Given the description of an element on the screen output the (x, y) to click on. 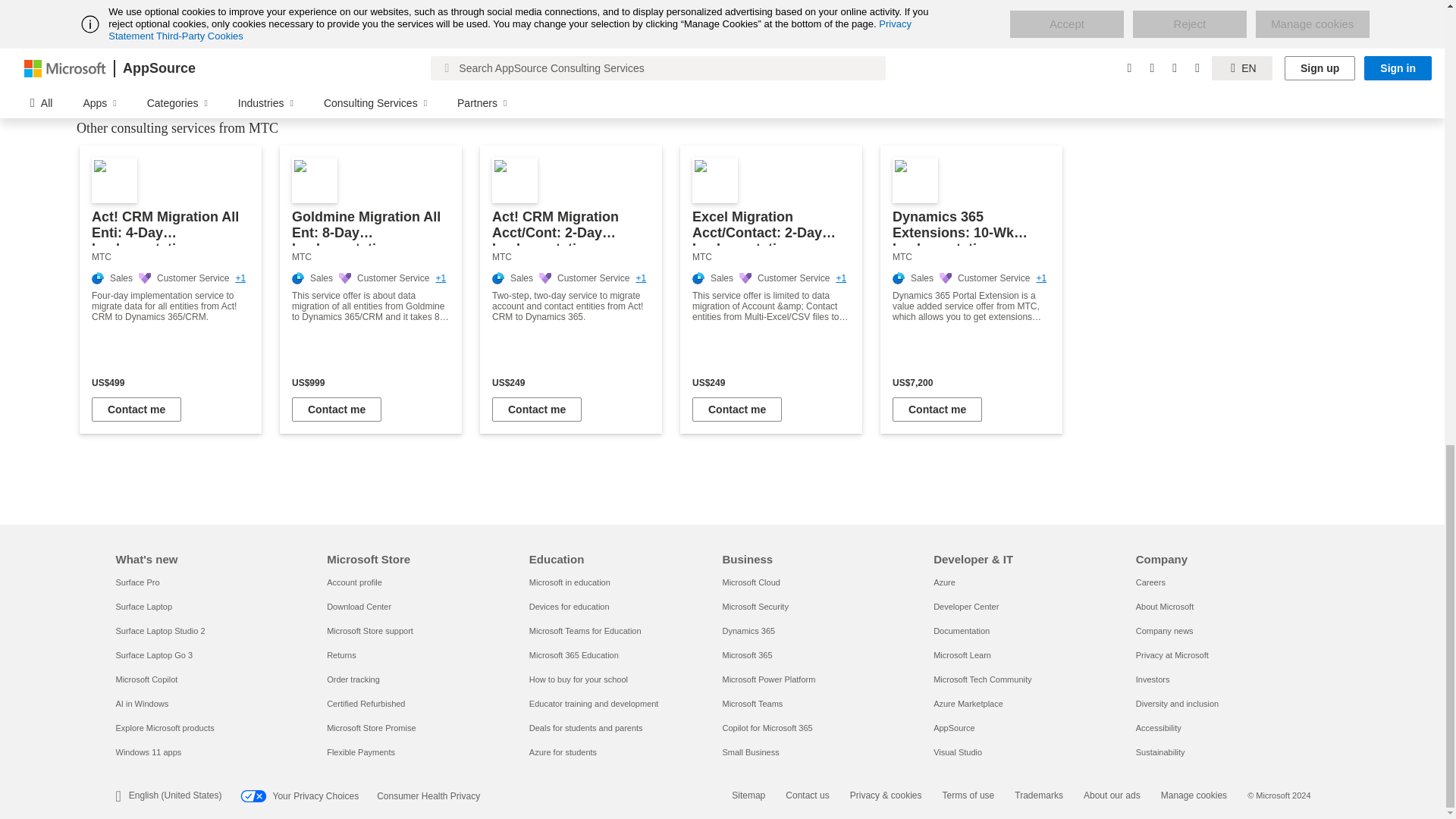
Contact me (336, 409)
Contact me (536, 409)
Contact me (737, 409)
Contact me (135, 409)
Surface Pro (136, 582)
Contact me (936, 409)
